Given the description of an element on the screen output the (x, y) to click on. 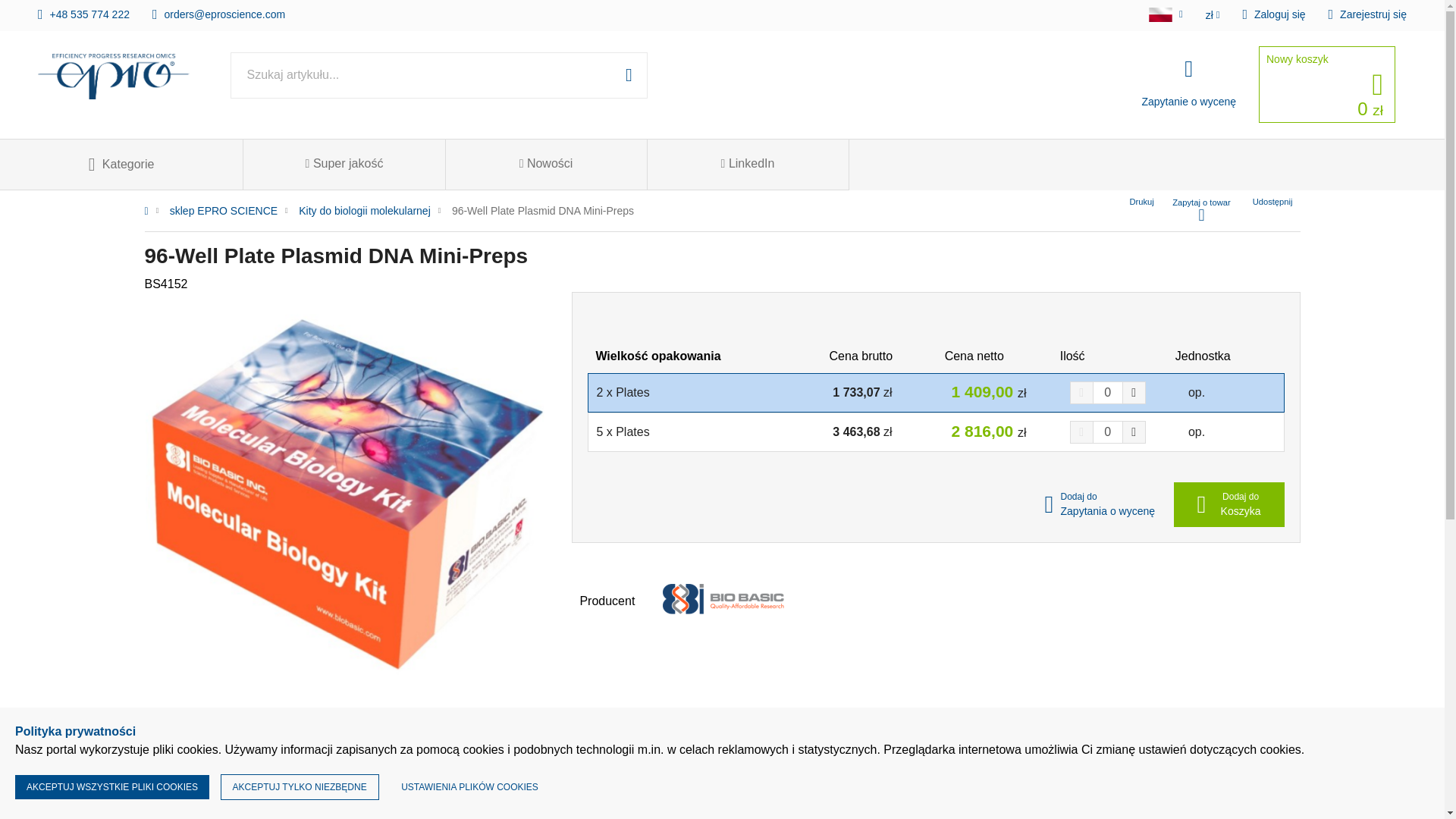
Kategorie (121, 164)
0 (1107, 431)
Kategorie (121, 164)
0 (1107, 392)
polski (1160, 14)
LinkedIn (747, 164)
Napisz do nas (218, 13)
